Given the description of an element on the screen output the (x, y) to click on. 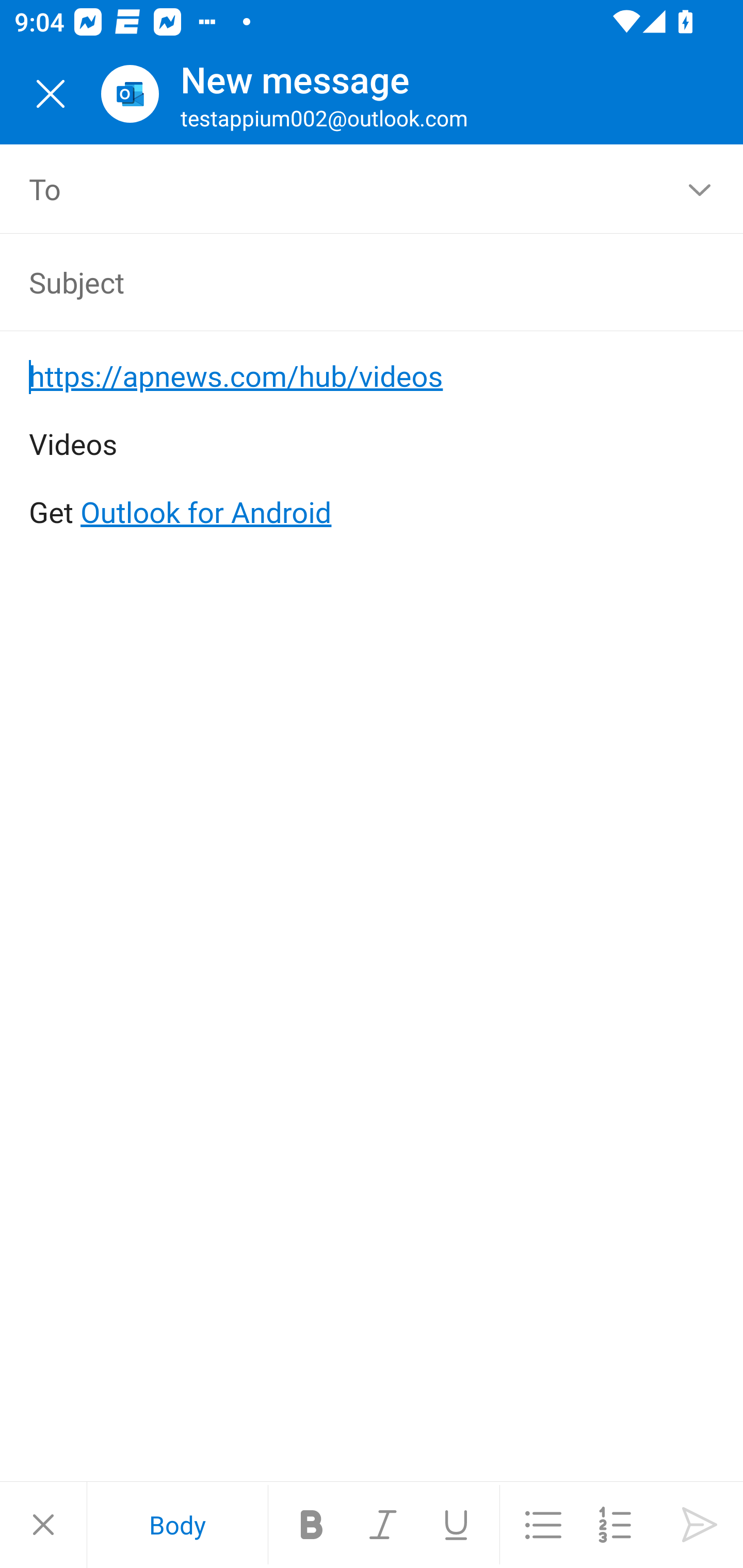
Close (50, 93)
Subject (342, 281)
Close (43, 1524)
Send (699, 1524)
Font style button body Body (176, 1524)
Bold (311, 1524)
Italics (384, 1524)
Underline (456, 1524)
Bulleted list (543, 1524)
Numbered list (615, 1524)
